Given the description of an element on the screen output the (x, y) to click on. 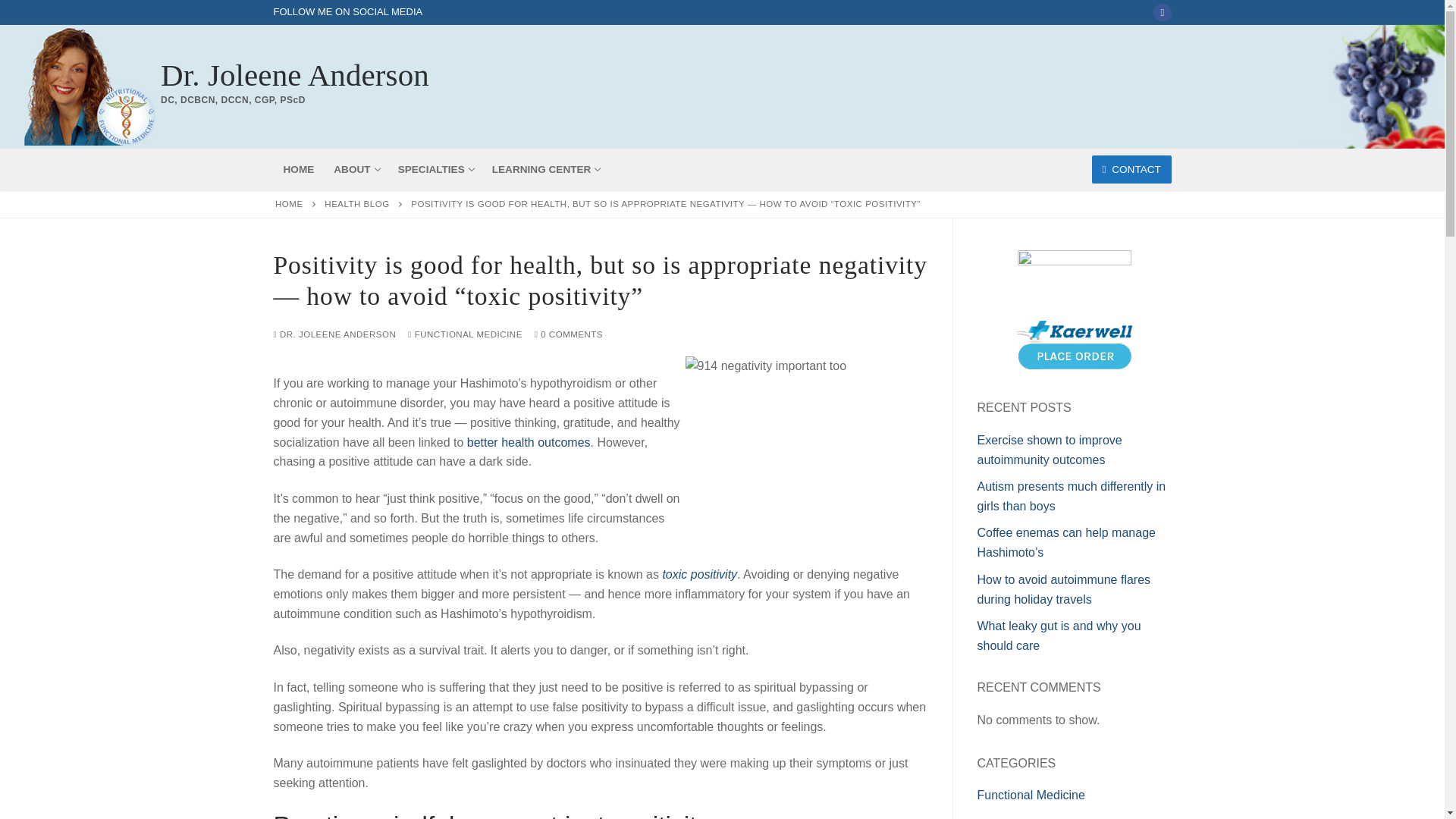
HOME (298, 169)
HEALTH BLOG (355, 169)
CONTACT (356, 203)
HOME (1132, 169)
FUNCTIONAL MEDICINE (434, 169)
Facebook (288, 203)
DR. JOLEENE ANDERSON (464, 334)
Dr. Joleene Anderson (1162, 12)
